Given the description of an element on the screen output the (x, y) to click on. 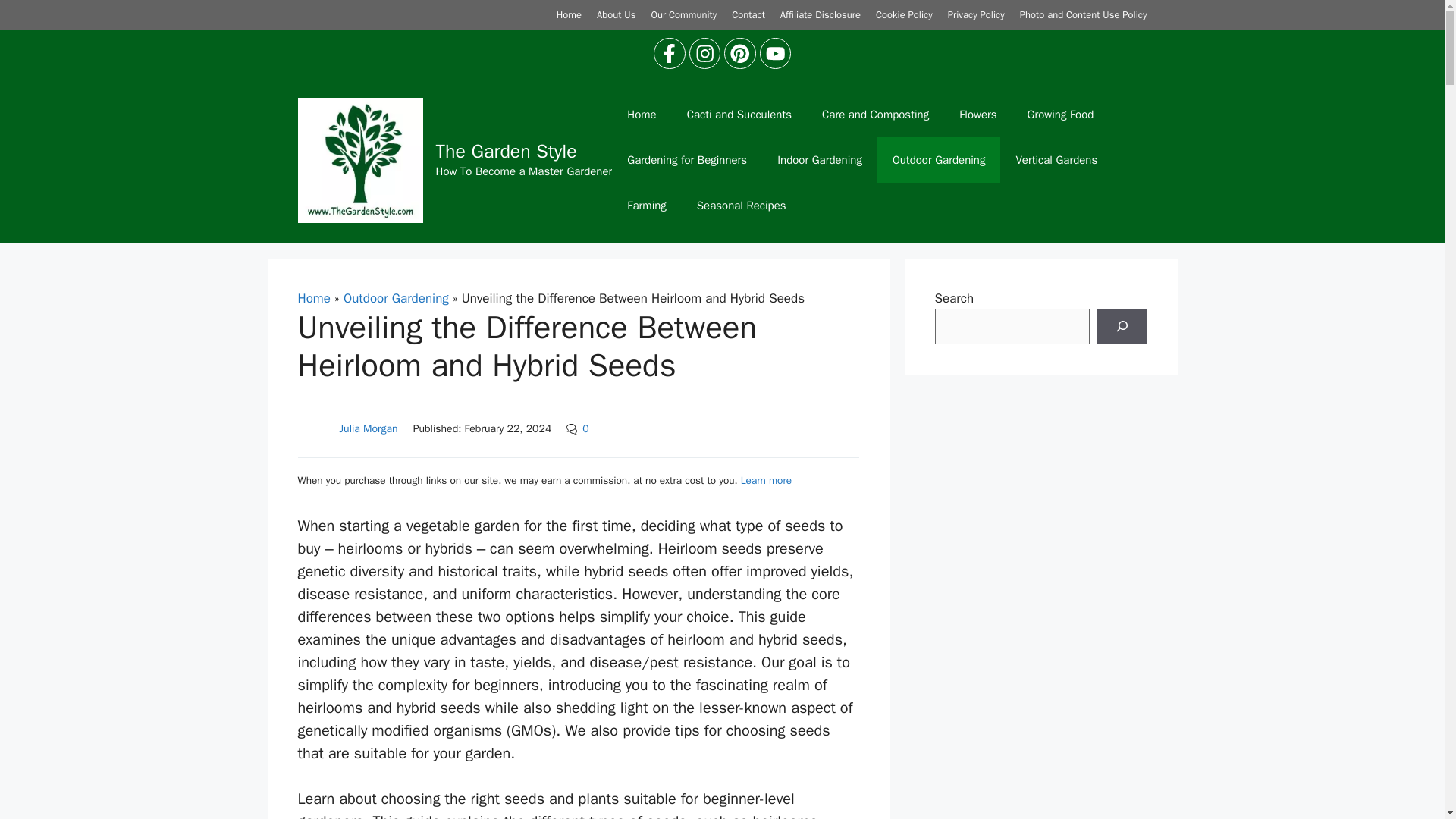
Seasonal Recipes (741, 205)
Growing Food (1060, 114)
Outdoor Gardening (939, 159)
Home (313, 298)
Home (568, 14)
Indoor Gardening (819, 159)
Care and Composting (874, 114)
Our Community (683, 14)
Learn more (766, 480)
Julia Morgan (368, 428)
